Given the description of an element on the screen output the (x, y) to click on. 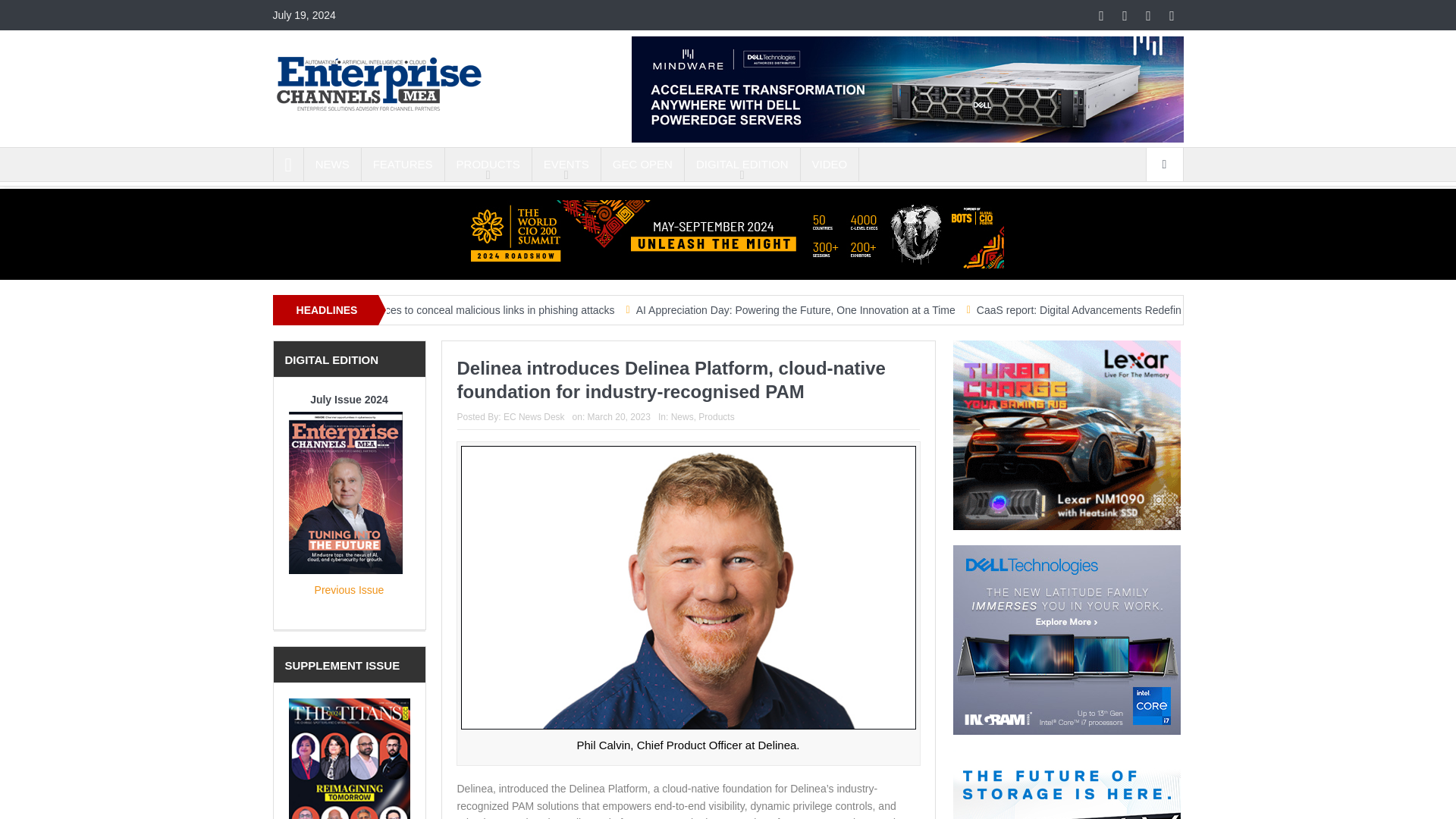
EVENTS (565, 164)
NEWS (332, 164)
FEATURES (402, 164)
View all posts in News (682, 416)
PRODUCTS (488, 164)
View all posts in Products (715, 416)
